Given the description of an element on the screen output the (x, y) to click on. 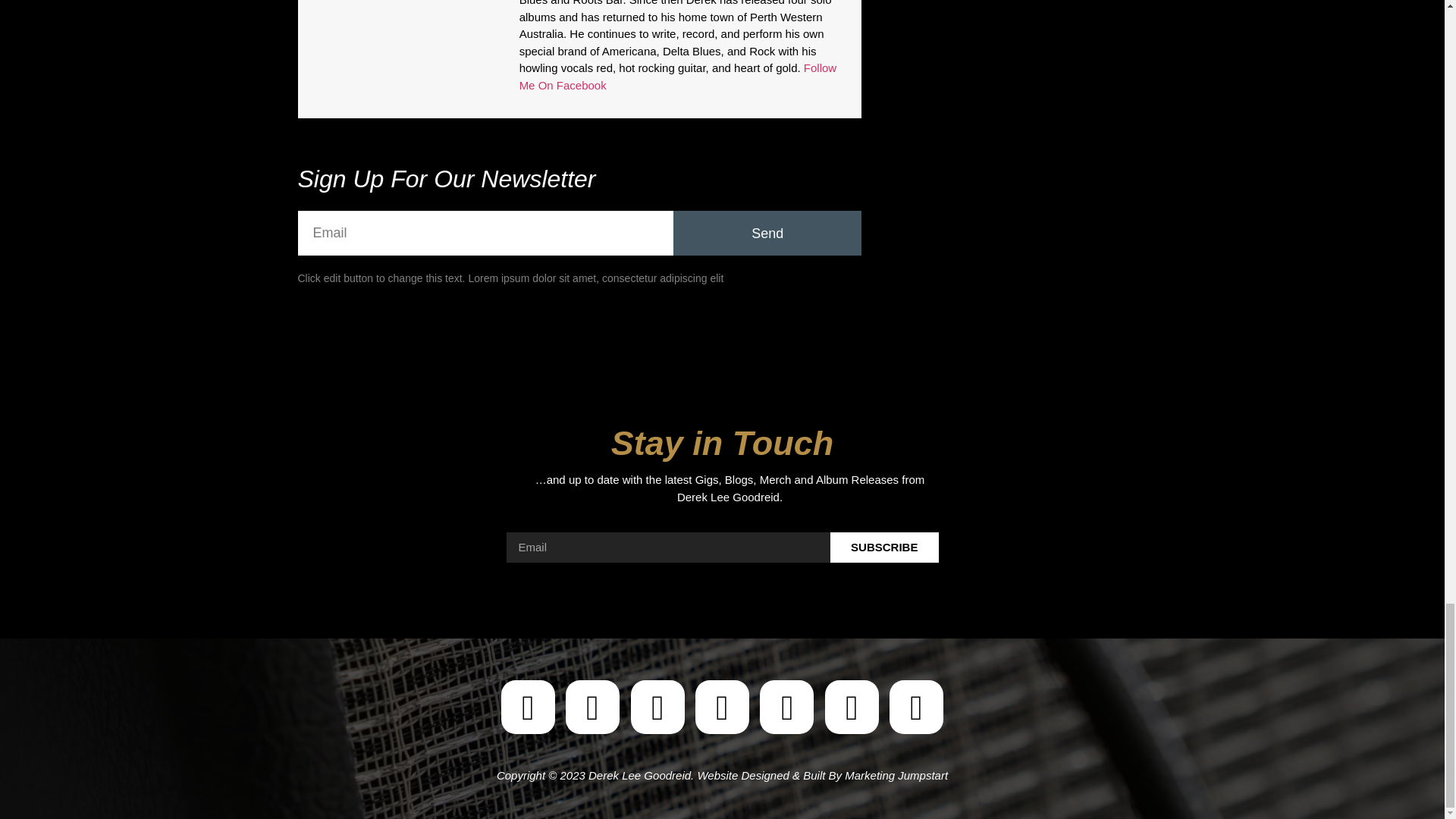
Marketing Jumpstart (895, 775)
SUBSCRIBE (884, 547)
Send (766, 232)
Follow Me On Facebook (678, 76)
